Given the description of an element on the screen output the (x, y) to click on. 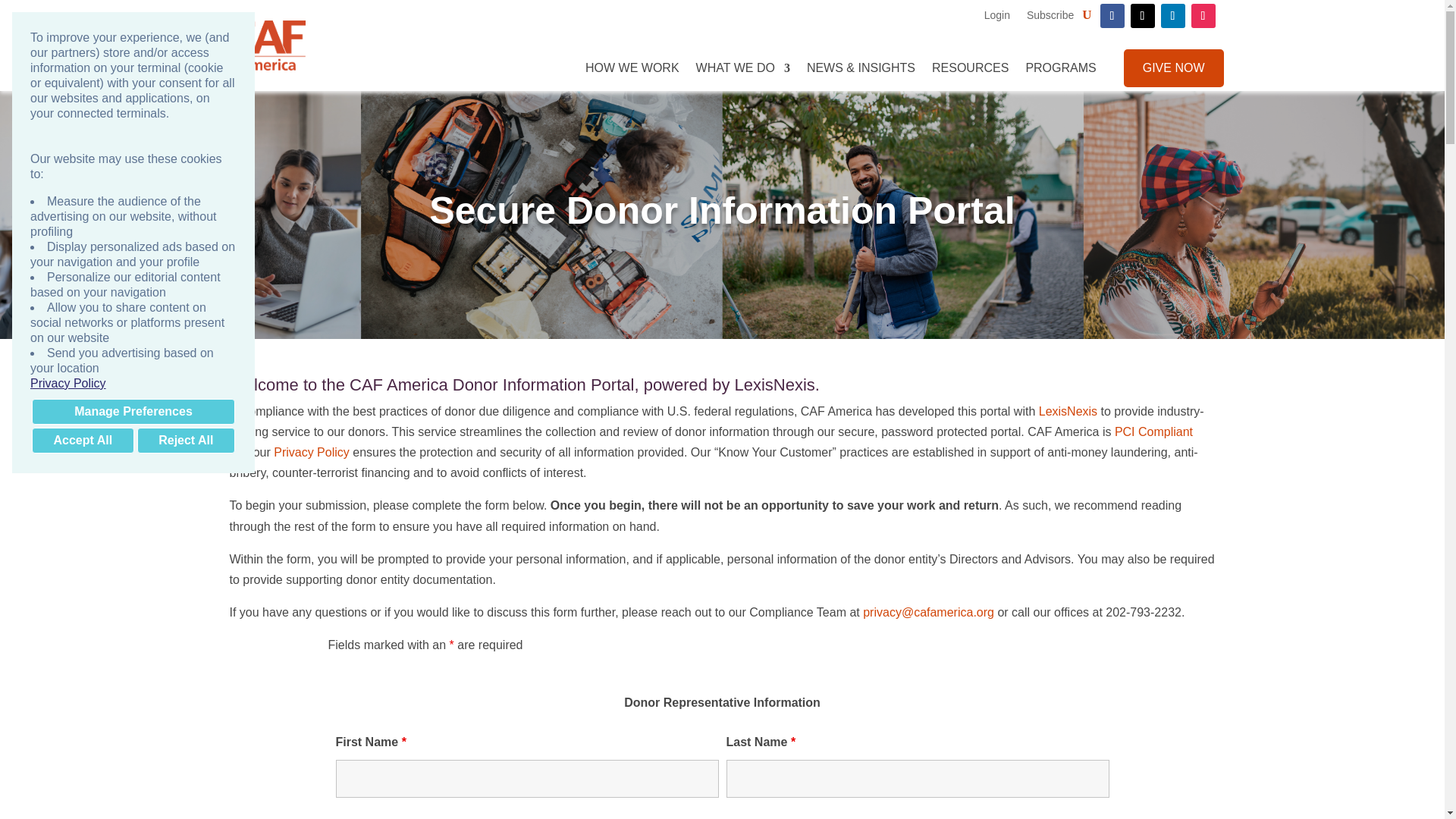
GIVE NOW (1173, 67)
Accept All (82, 440)
Follow on X (1141, 15)
Follow on LinkedIn (1172, 15)
Subscribe (1050, 15)
Follow on Facebook (1111, 15)
HOW WE WORK (632, 67)
Login (997, 15)
Reject All (185, 440)
PROGRAMS (1060, 67)
Manage Preferences (133, 411)
Follow on Instagram (1202, 15)
Privacy Policy (132, 383)
RESOURCES (970, 67)
WHAT WE DO (742, 67)
